Given the description of an element on the screen output the (x, y) to click on. 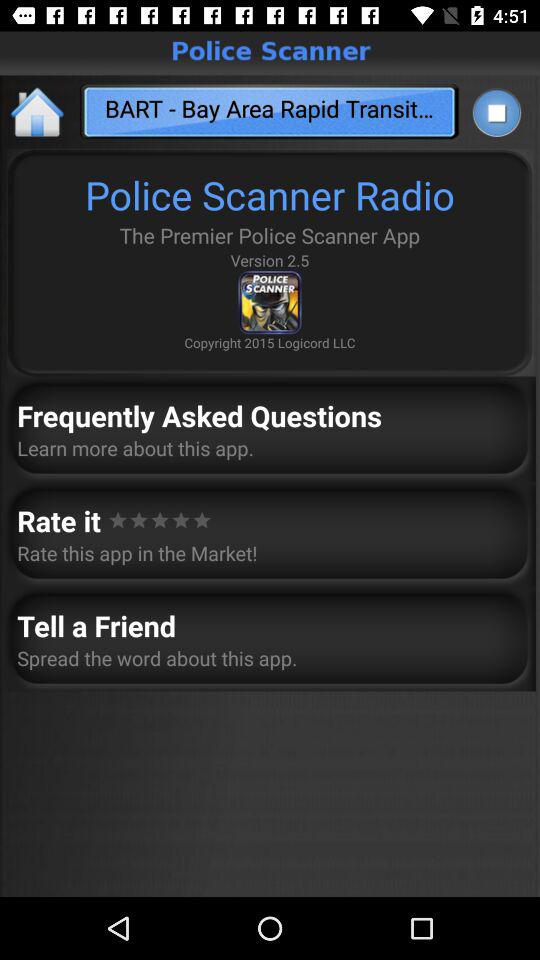
open app to the right of the bart bay area app (496, 111)
